Given the description of an element on the screen output the (x, y) to click on. 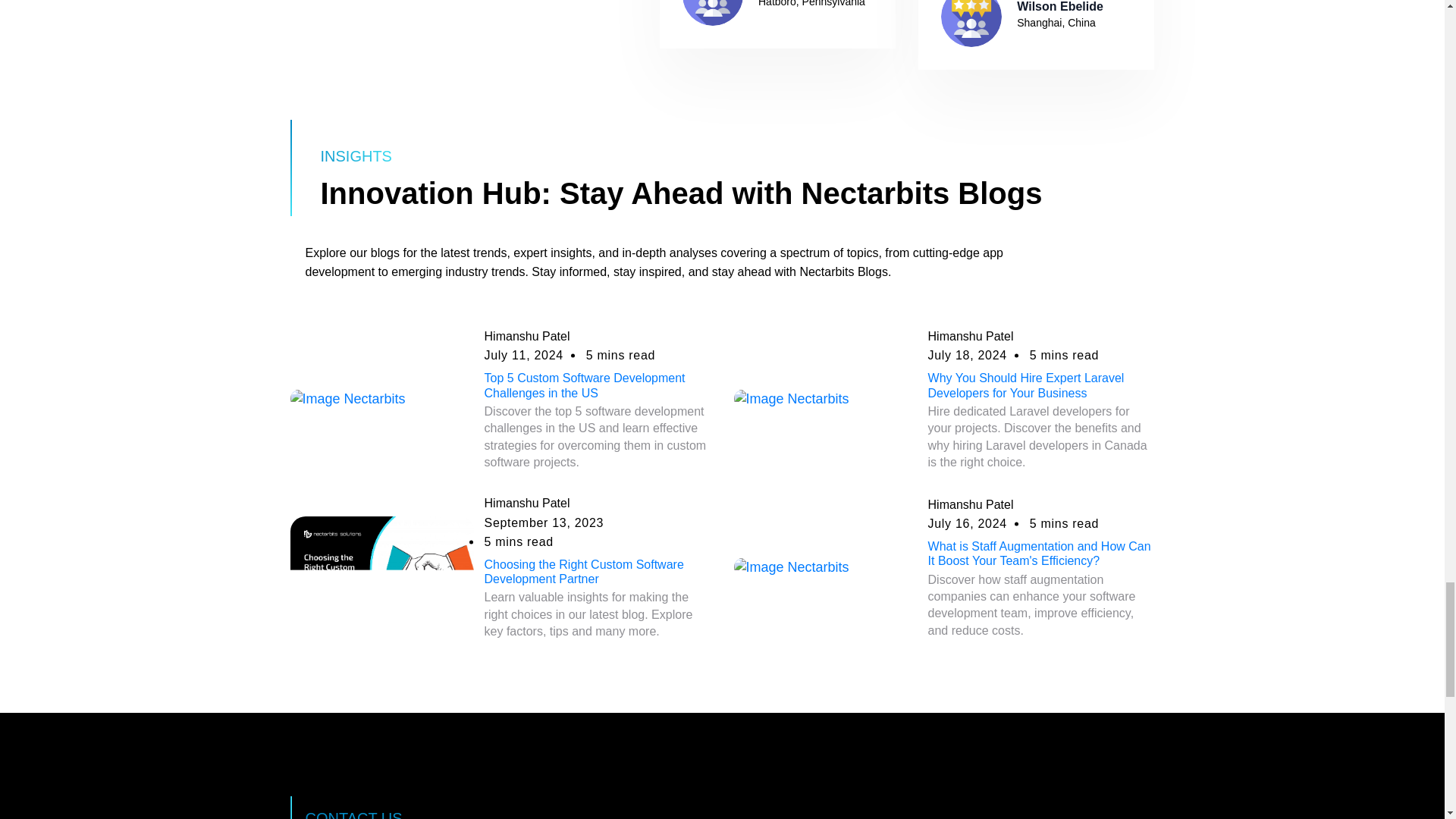
Choosing the Right Custom Software Development Partner (584, 571)
Top 5 Custom Software Development Challenges in the US (584, 384)
